Given the description of an element on the screen output the (x, y) to click on. 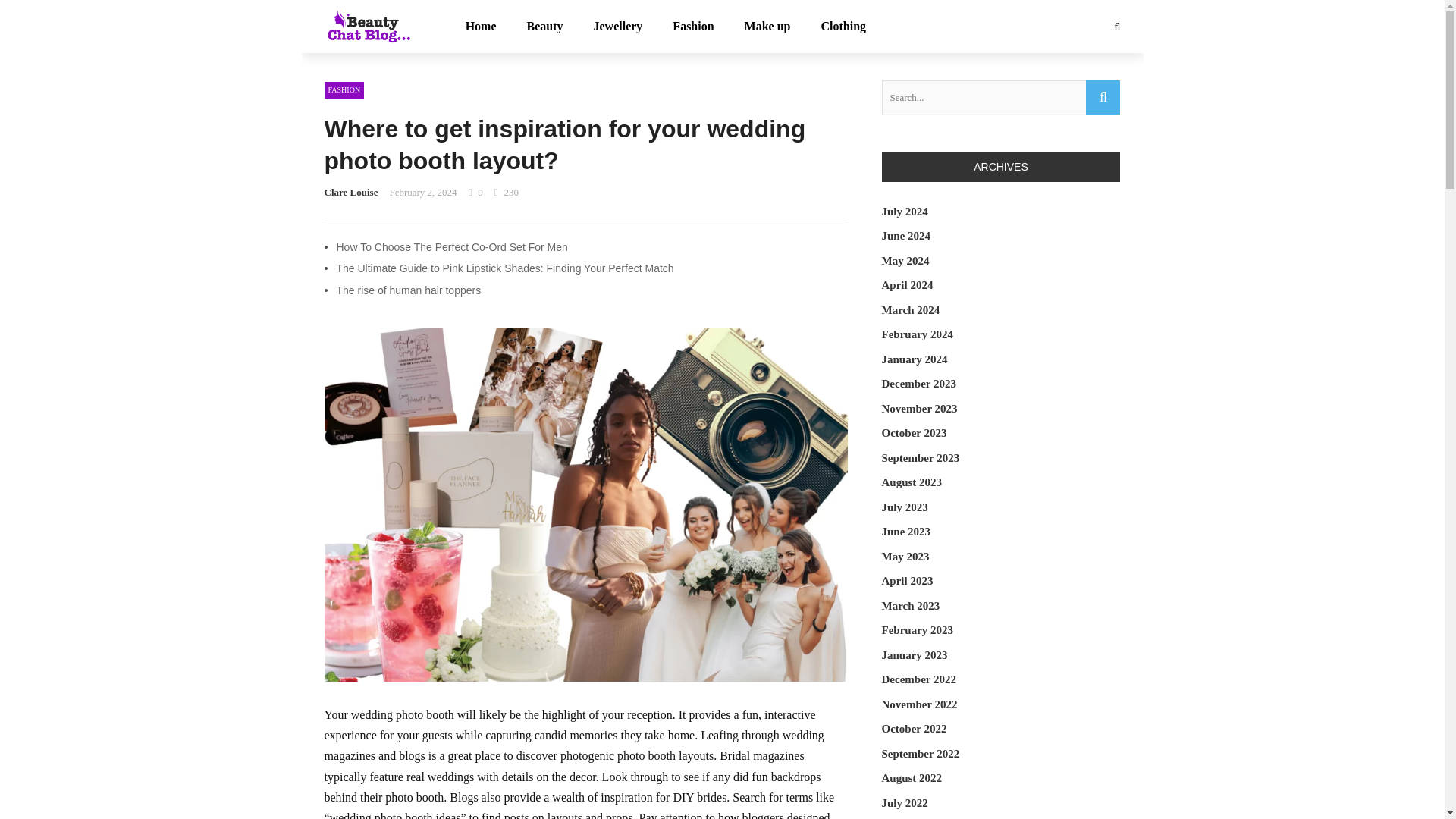
June 2024 (905, 235)
The rise of human hair toppers (408, 290)
How To Choose The Perfect Co-Ord Set For Men (451, 246)
Fashion (693, 26)
Jewellery (618, 26)
Clothing (844, 26)
Home (480, 26)
Make up (767, 26)
July 2024 (903, 210)
Clare Louise (351, 192)
FASHION (344, 89)
Beauty (544, 26)
